Given the description of an element on the screen output the (x, y) to click on. 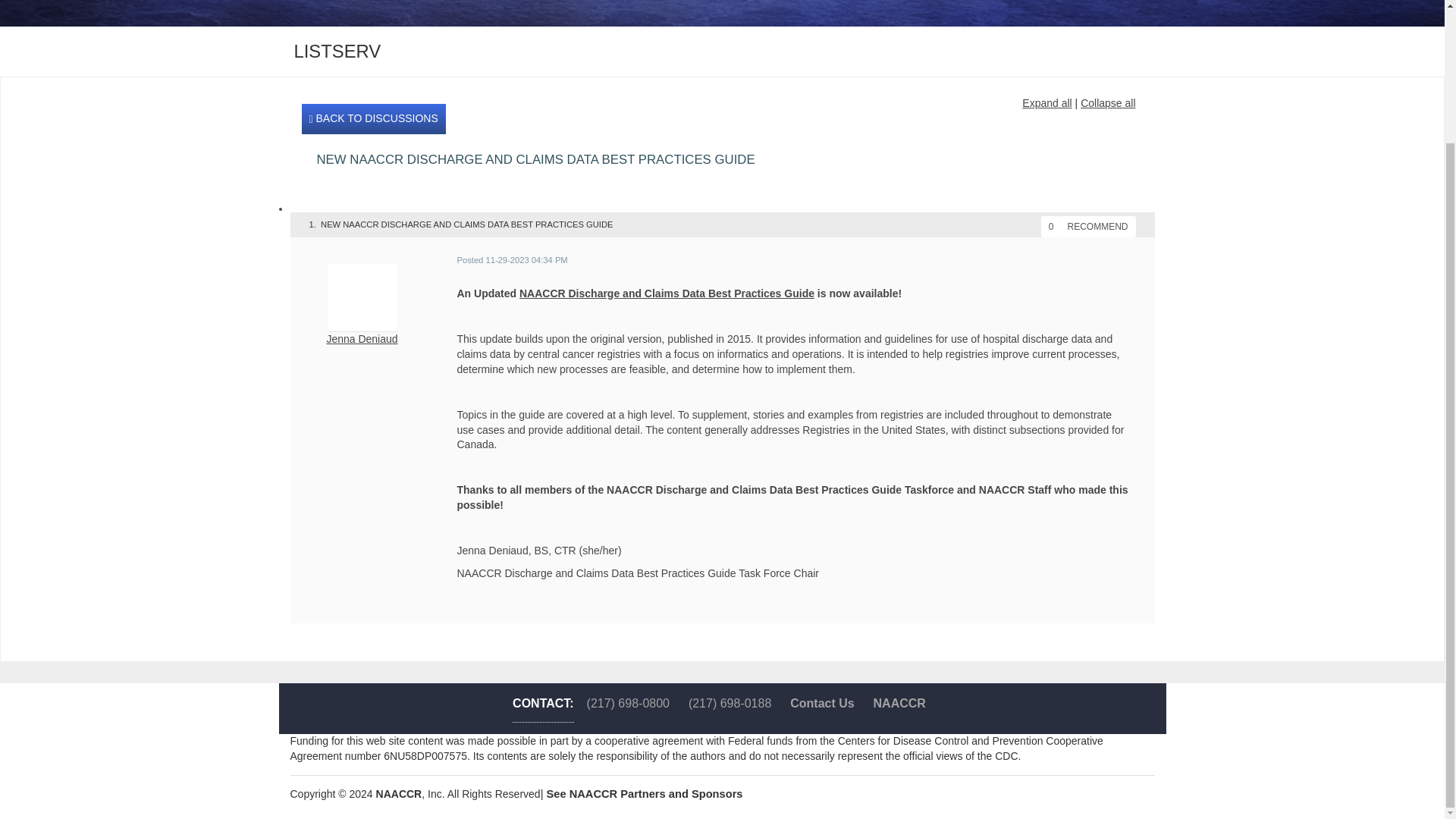
0 (1051, 226)
Jenna Deniaud (361, 297)
Contact Us (821, 703)
NAACCR (398, 793)
Expand all (1046, 102)
RECOMMEND (1097, 226)
Recommend this item. (1097, 226)
Collapse all (1107, 102)
BACK TO DISCUSSIONS (373, 119)
See NAACCR Partners and Sponsors (644, 793)
Nbr of recommenders (1051, 226)
Jenna Deniaud (361, 338)
NAACCR Discharge and Claims Data Best Practices Guide (666, 293)
NAACCR (899, 703)
